Given the description of an element on the screen output the (x, y) to click on. 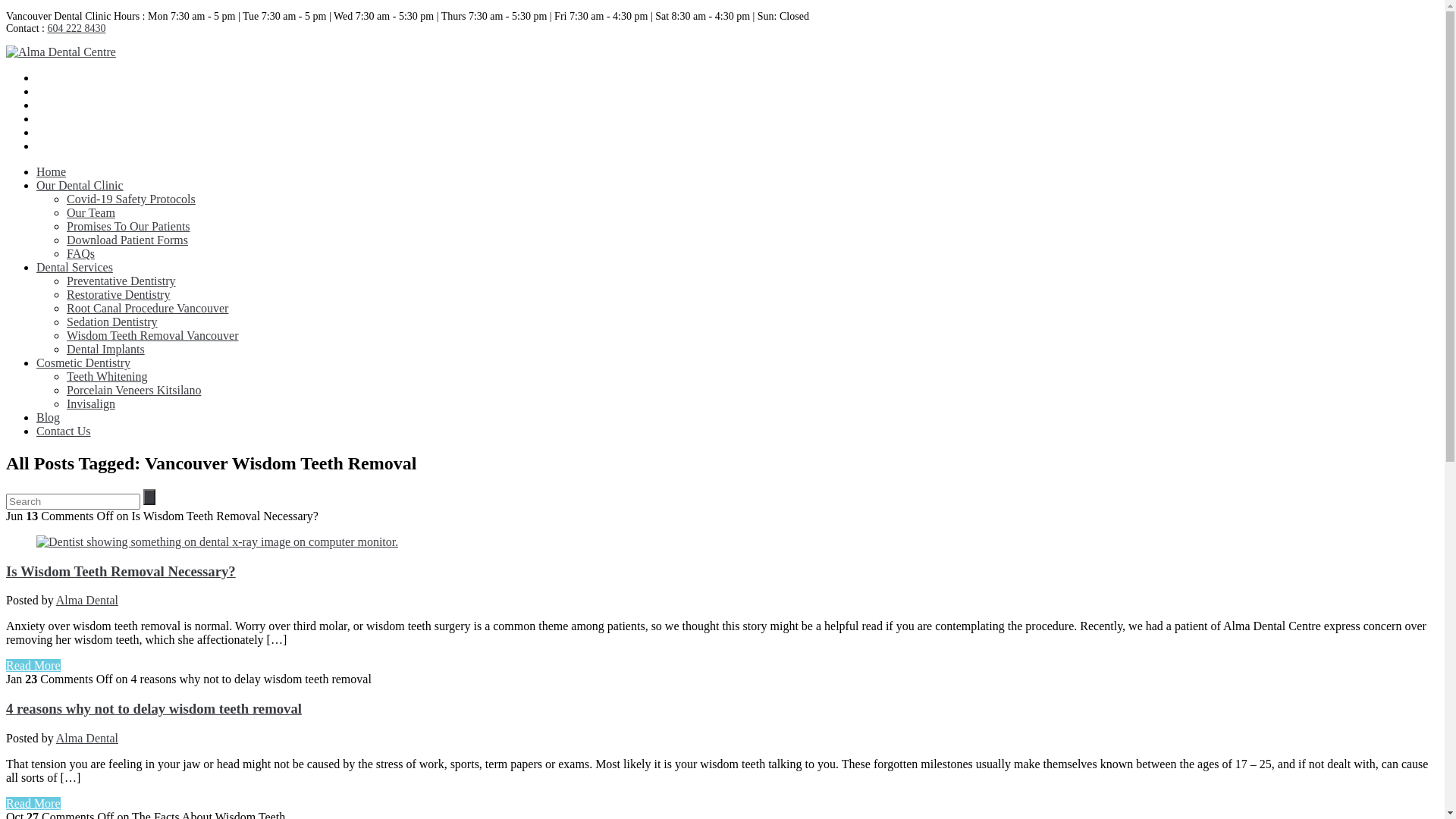
Alma Dental Element type: text (87, 737)
Read More Element type: text (33, 803)
Porcelain Veneers Kitsilano Element type: text (133, 389)
Preventative Dentistry Element type: text (120, 280)
FAQs Element type: text (80, 253)
Dental Implants Element type: text (105, 348)
Cosmetic Dentistry Element type: text (83, 362)
Read More Element type: text (33, 664)
Home Element type: text (50, 171)
Invisalign Element type: text (90, 403)
Blog Element type: text (47, 417)
Download Patient Forms Element type: text (127, 239)
Our Team Element type: text (90, 212)
Sedation Dentistry Element type: text (111, 321)
4 reasons why not to delay wisdom teeth removal Element type: text (153, 708)
Is Wisdom Teeth Removal Necessary? Element type: hover (217, 541)
Wisdom Teeth Removal Vancouver Element type: text (152, 335)
Our Dental Clinic Element type: text (79, 184)
Contact Us Element type: text (63, 430)
Covid-19 Safety Protocols Element type: text (130, 198)
Is Wisdom Teeth Removal Necessary? Element type: text (120, 571)
Root Canal Procedure Vancouver Element type: text (147, 307)
Restorative Dentistry Element type: text (117, 294)
604 222 8430 Element type: text (76, 28)
Alma Dental Element type: text (87, 599)
Dental Services Element type: text (74, 266)
Teeth Whitening Element type: text (106, 376)
Promises To Our Patients Element type: text (128, 225)
